Given the description of an element on the screen output the (x, y) to click on. 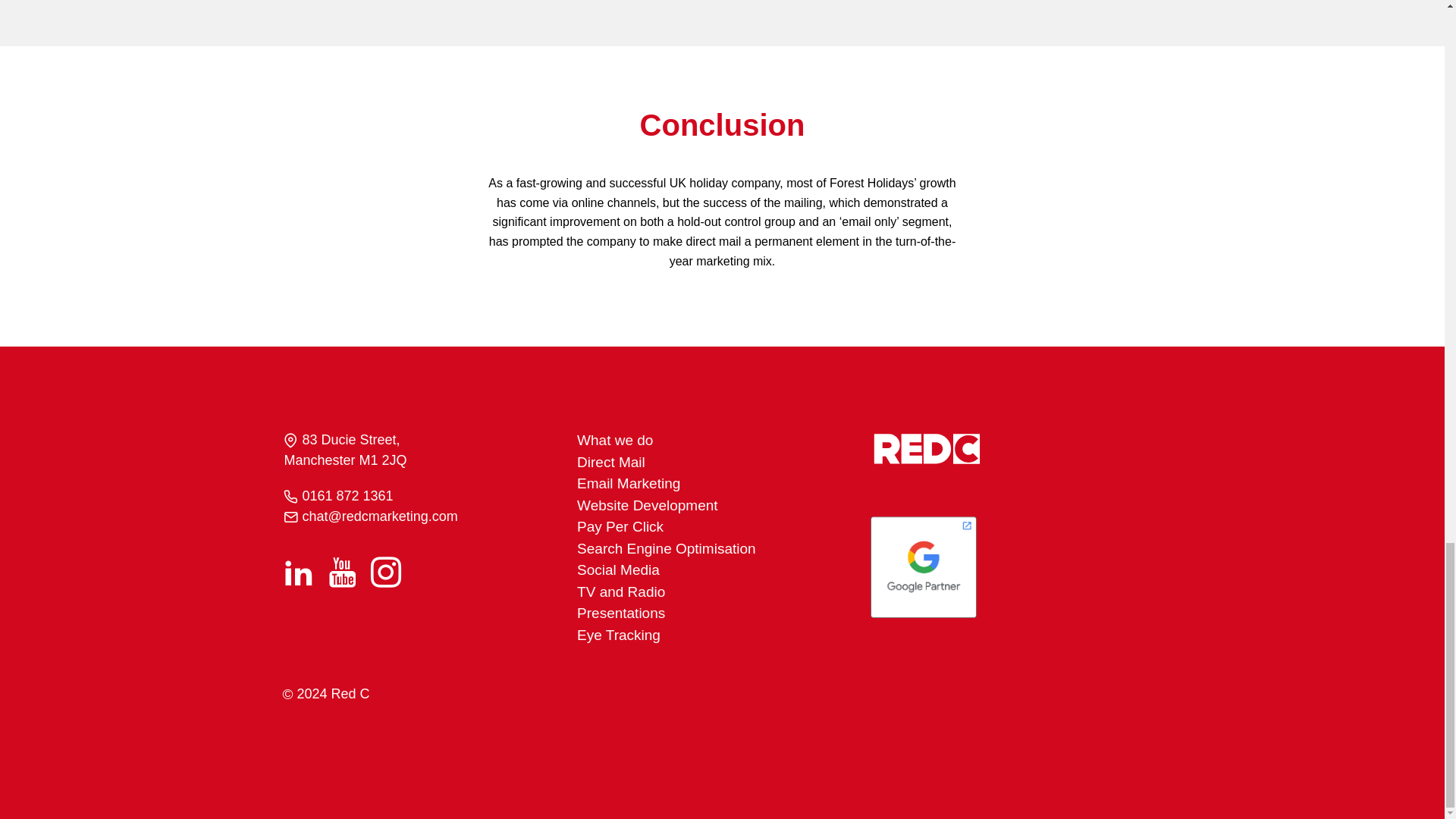
Search Engine Optimisation (665, 548)
TV and Radio (620, 591)
Social Media (617, 569)
Pay Per Click (619, 526)
What we do (614, 439)
Direct Mail (610, 462)
Home (927, 448)
Website Development (646, 505)
Eye Tracking (618, 634)
0161 872 1361 (347, 495)
